Given the description of an element on the screen output the (x, y) to click on. 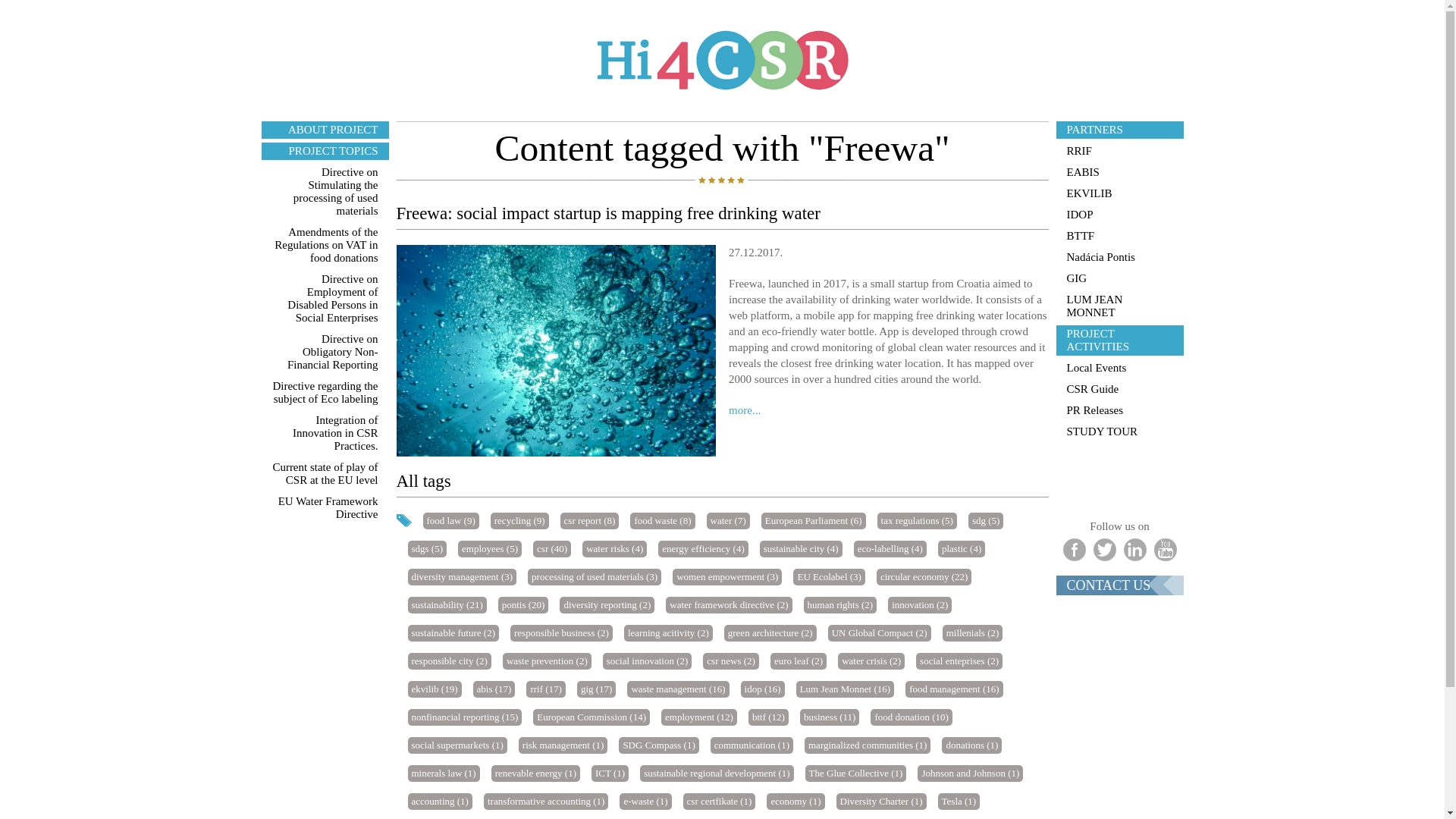
Directive regarding the subject of Eco labeling (324, 392)
more... (744, 410)
YouTube (1165, 549)
Amendments of the Regulations on VAT in food donations (324, 244)
Current state of play of CSR at the EU level (324, 473)
LinkedIn (1135, 549)
EU Water Framework Directive (324, 508)
Facebook (1074, 549)
Directive on Obligatory Non-Financial Reporting (324, 351)
PROJECT TOPICS (324, 150)
